Given the description of an element on the screen output the (x, y) to click on. 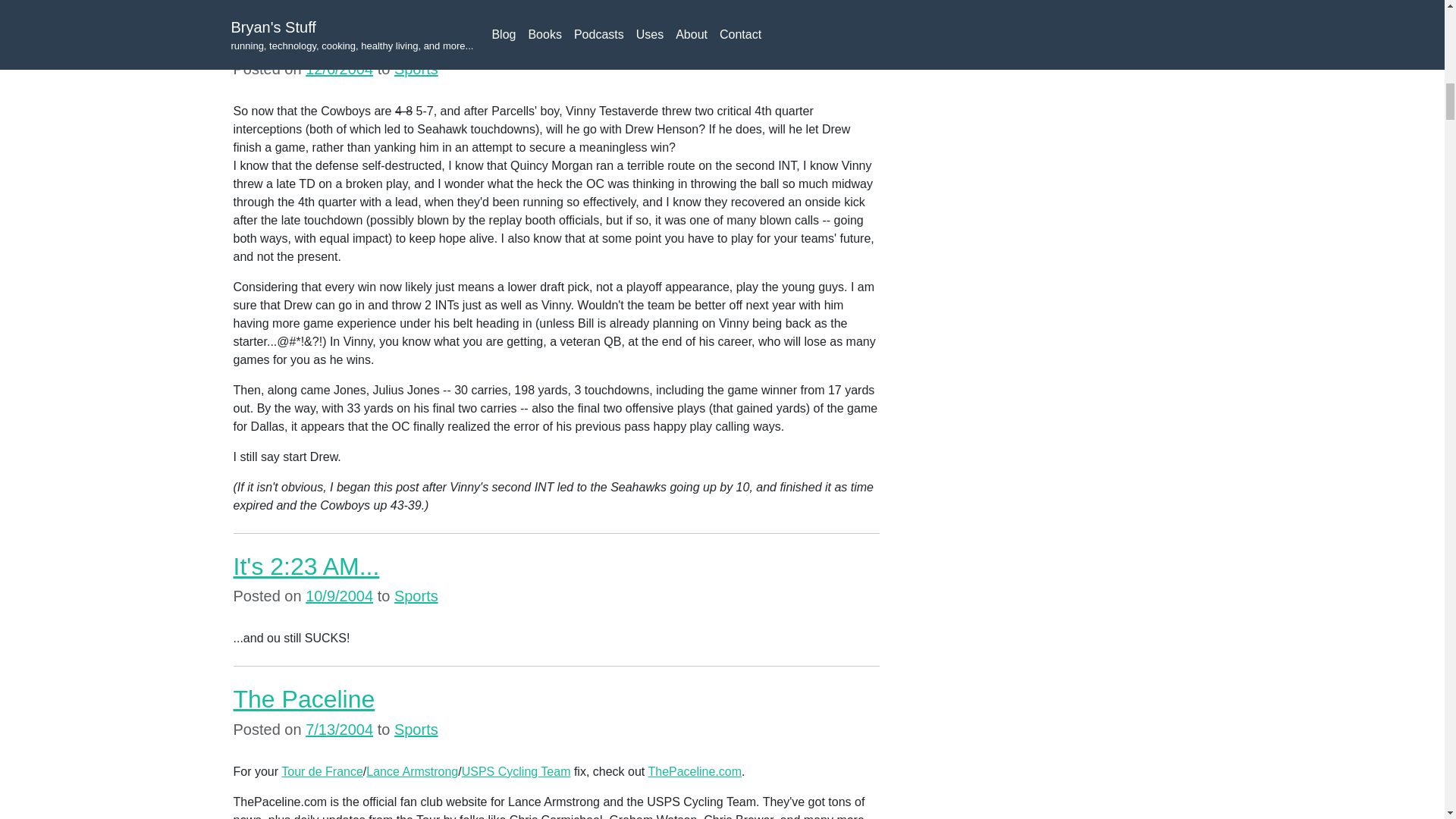
Sports (416, 596)
It's 2:23 AM... (306, 565)
The Paceline (303, 698)
How About Now, Bill? (348, 38)
Sports (416, 729)
Sports (416, 68)
